Given the description of an element on the screen output the (x, y) to click on. 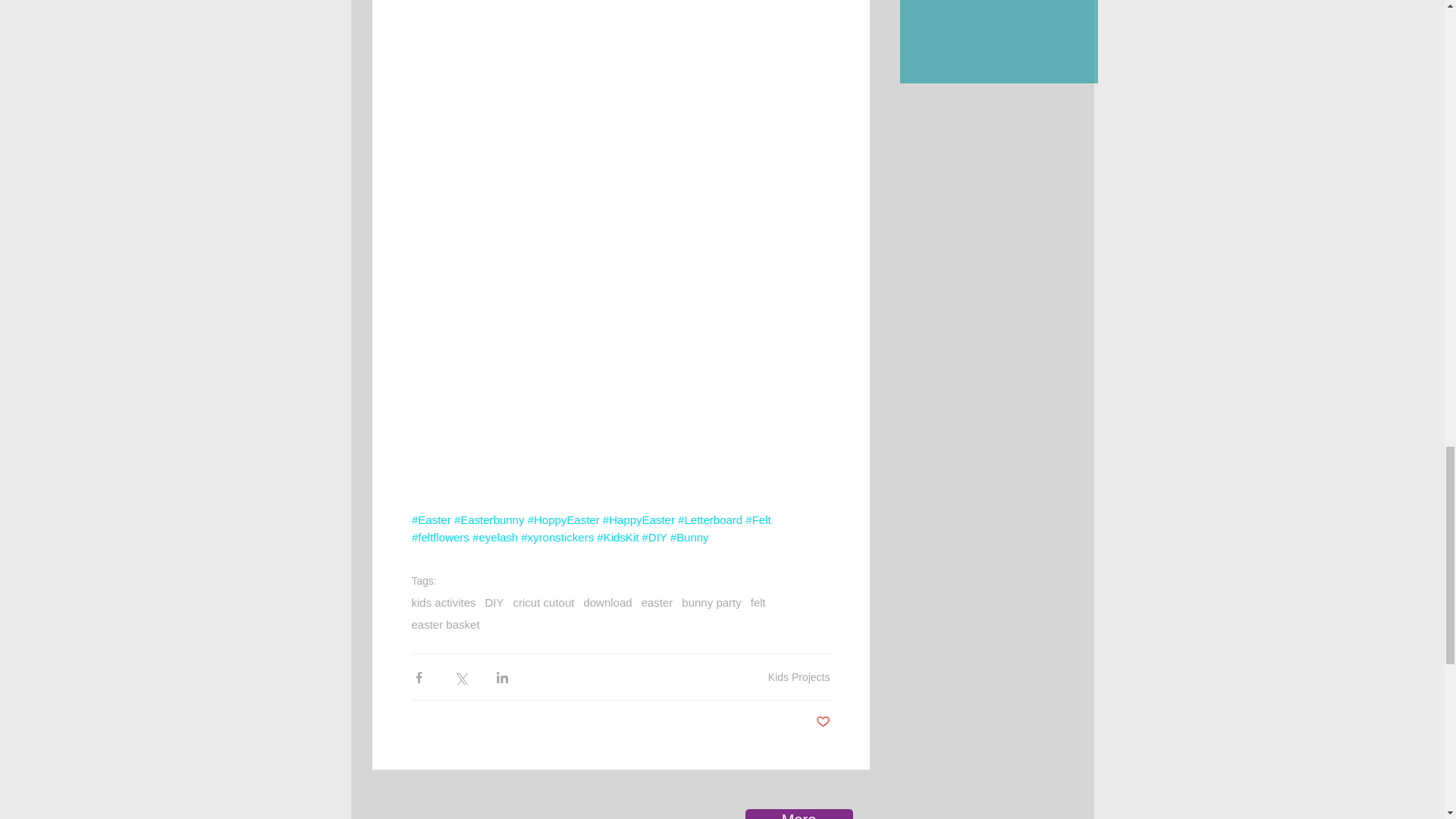
easter (657, 602)
cricut cutout (544, 602)
download (607, 602)
Kids Projects (798, 676)
easter basket (444, 624)
felt (758, 602)
DIY (493, 602)
bunny party (711, 602)
Post not marked as liked (822, 722)
kids activites (443, 602)
